Given the description of an element on the screen output the (x, y) to click on. 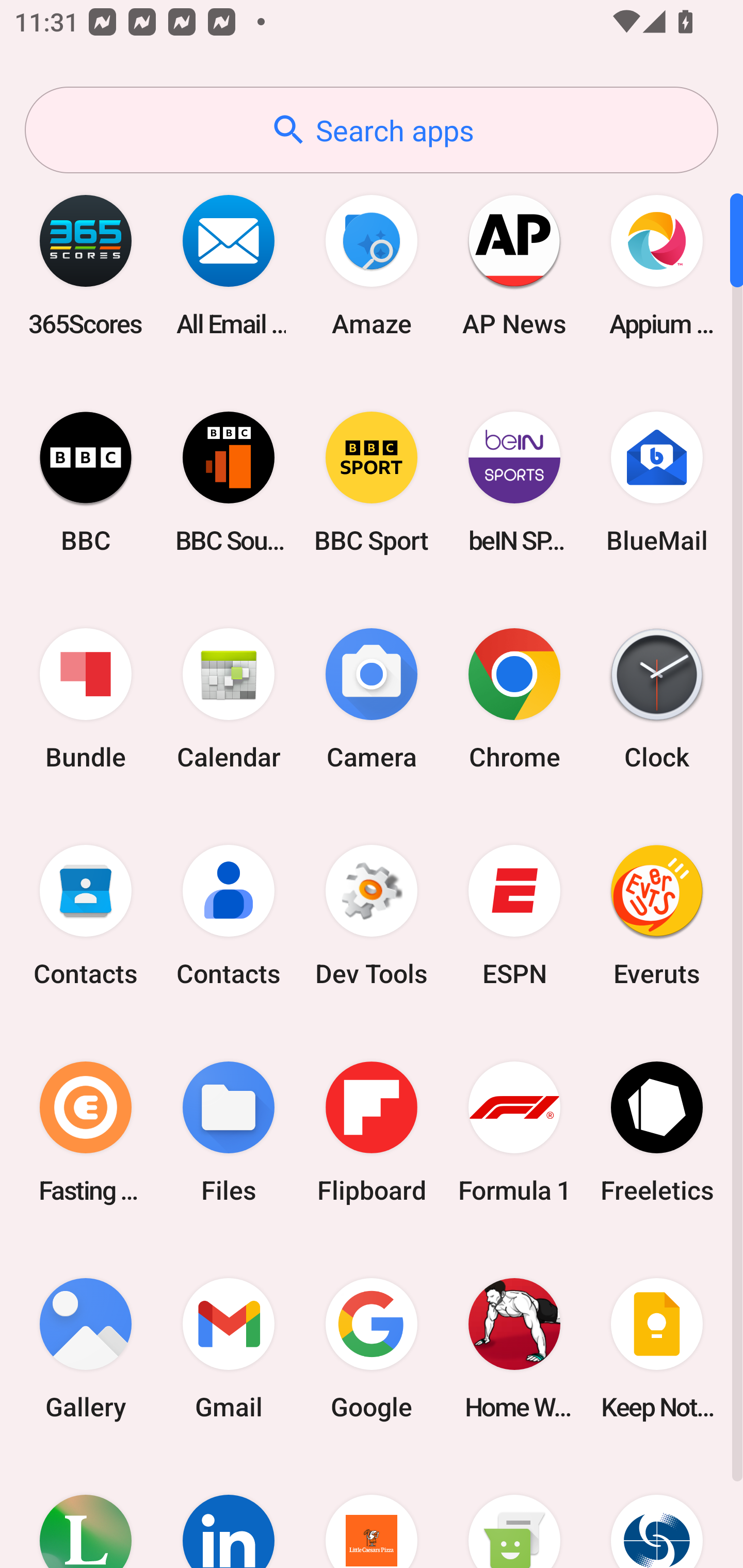
  Search apps (371, 130)
365Scores (85, 264)
All Email Connect (228, 264)
Amaze (371, 264)
AP News (514, 264)
Appium Settings (656, 264)
BBC (85, 482)
BBC Sounds (228, 482)
BBC Sport (371, 482)
beIN SPORTS (514, 482)
BlueMail (656, 482)
Bundle (85, 699)
Calendar (228, 699)
Camera (371, 699)
Chrome (514, 699)
Clock (656, 699)
Contacts (85, 915)
Contacts (228, 915)
Dev Tools (371, 915)
ESPN (514, 915)
Everuts (656, 915)
Fasting Coach (85, 1131)
Files (228, 1131)
Flipboard (371, 1131)
Formula 1 (514, 1131)
Freeletics (656, 1131)
Gallery (85, 1348)
Gmail (228, 1348)
Google (371, 1348)
Home Workout (514, 1348)
Keep Notes (656, 1348)
Lifesum (85, 1512)
LinkedIn (228, 1512)
Little Caesars Pizza (371, 1512)
Messaging (514, 1512)
MyObservatory (656, 1512)
